Given the description of an element on the screen output the (x, y) to click on. 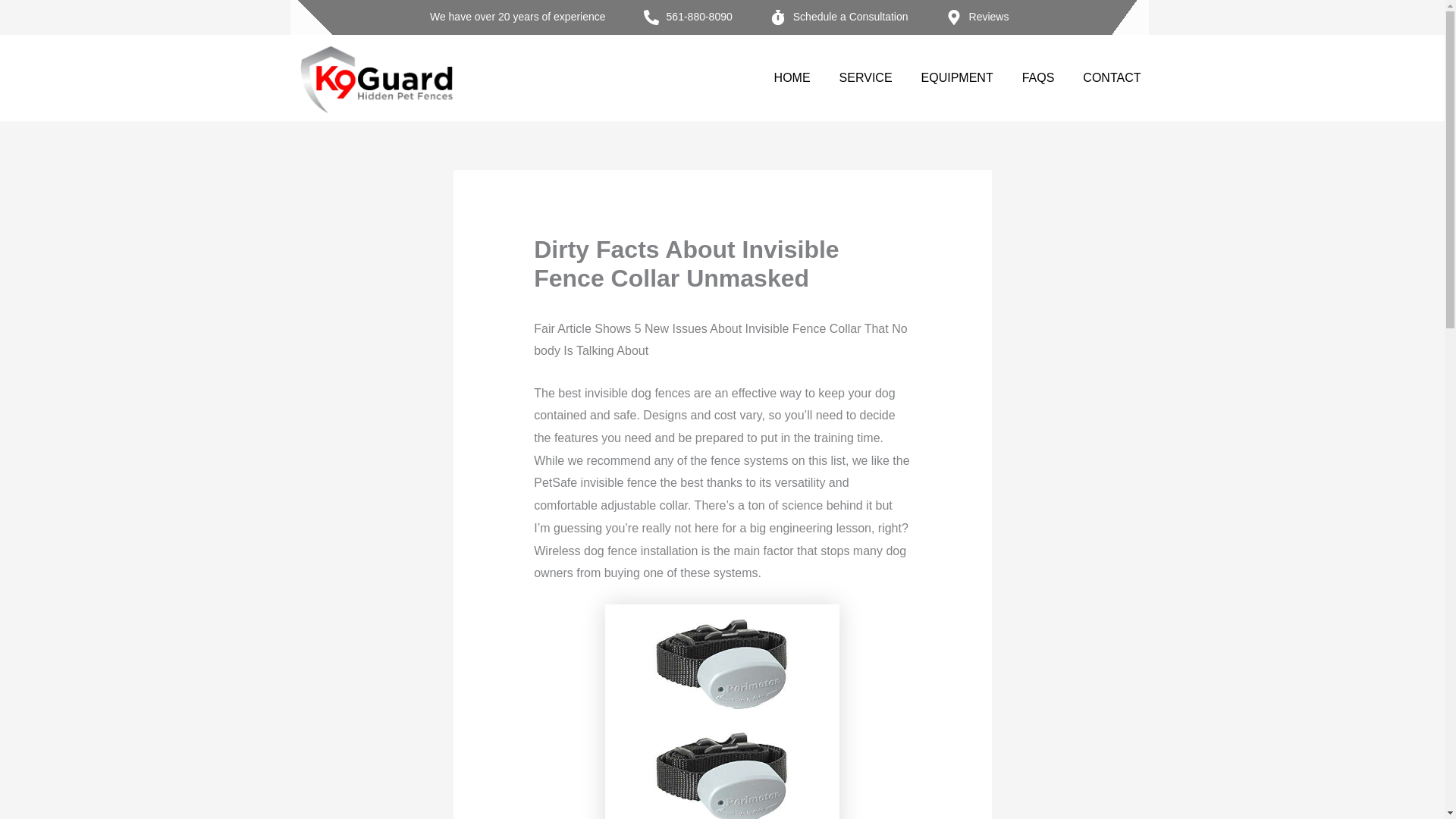
SERVICE (865, 77)
CONTACT (1112, 77)
HOME (792, 77)
FAQS (1038, 77)
Schedule a Consultation (839, 17)
Reviews (977, 17)
EQUIPMENT (956, 77)
